Given the description of an element on the screen output the (x, y) to click on. 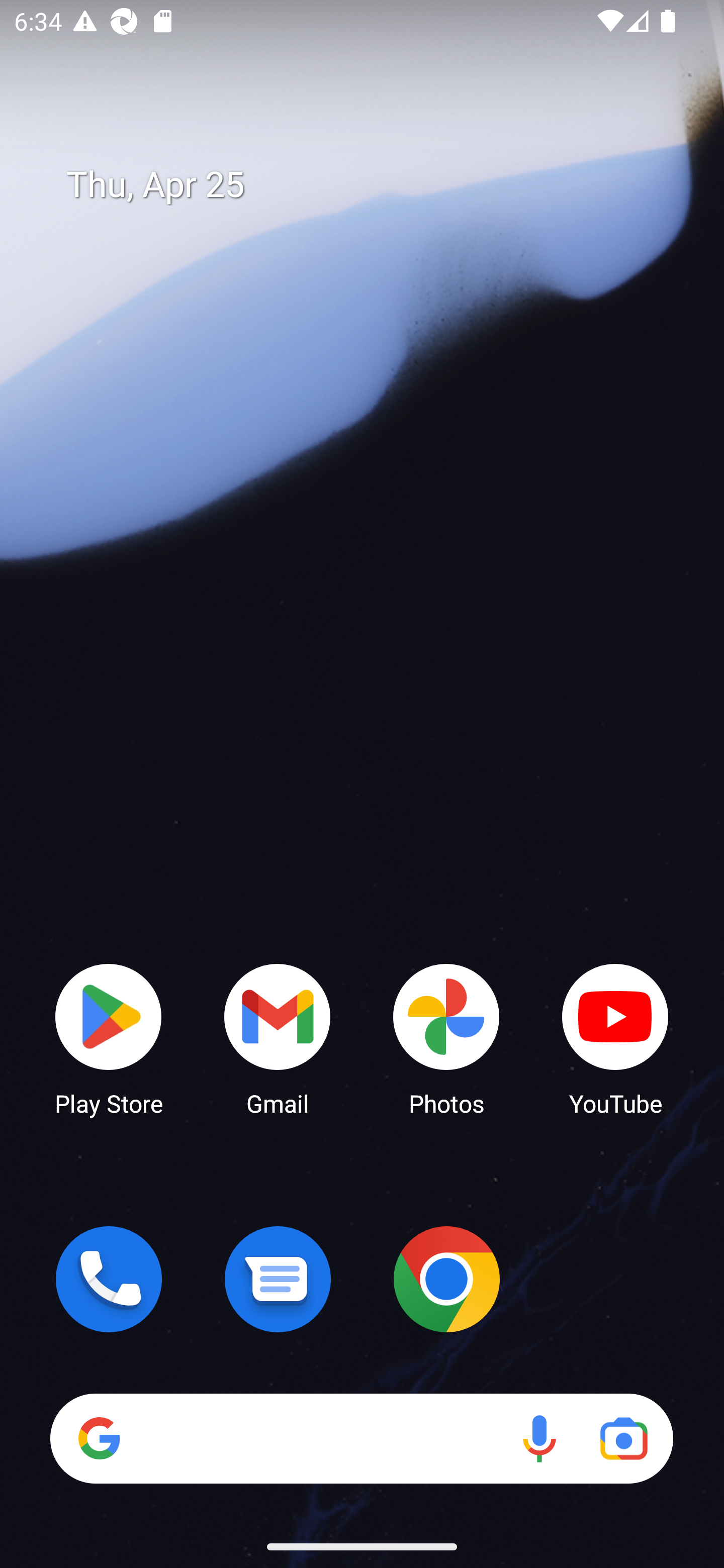
Thu, Apr 25 (375, 184)
Play Store (108, 1038)
Gmail (277, 1038)
Photos (445, 1038)
YouTube (615, 1038)
Phone (108, 1279)
Messages (277, 1279)
Chrome (446, 1279)
Search Voice search Google Lens (361, 1438)
Voice search (539, 1438)
Google Lens (623, 1438)
